Given the description of an element on the screen output the (x, y) to click on. 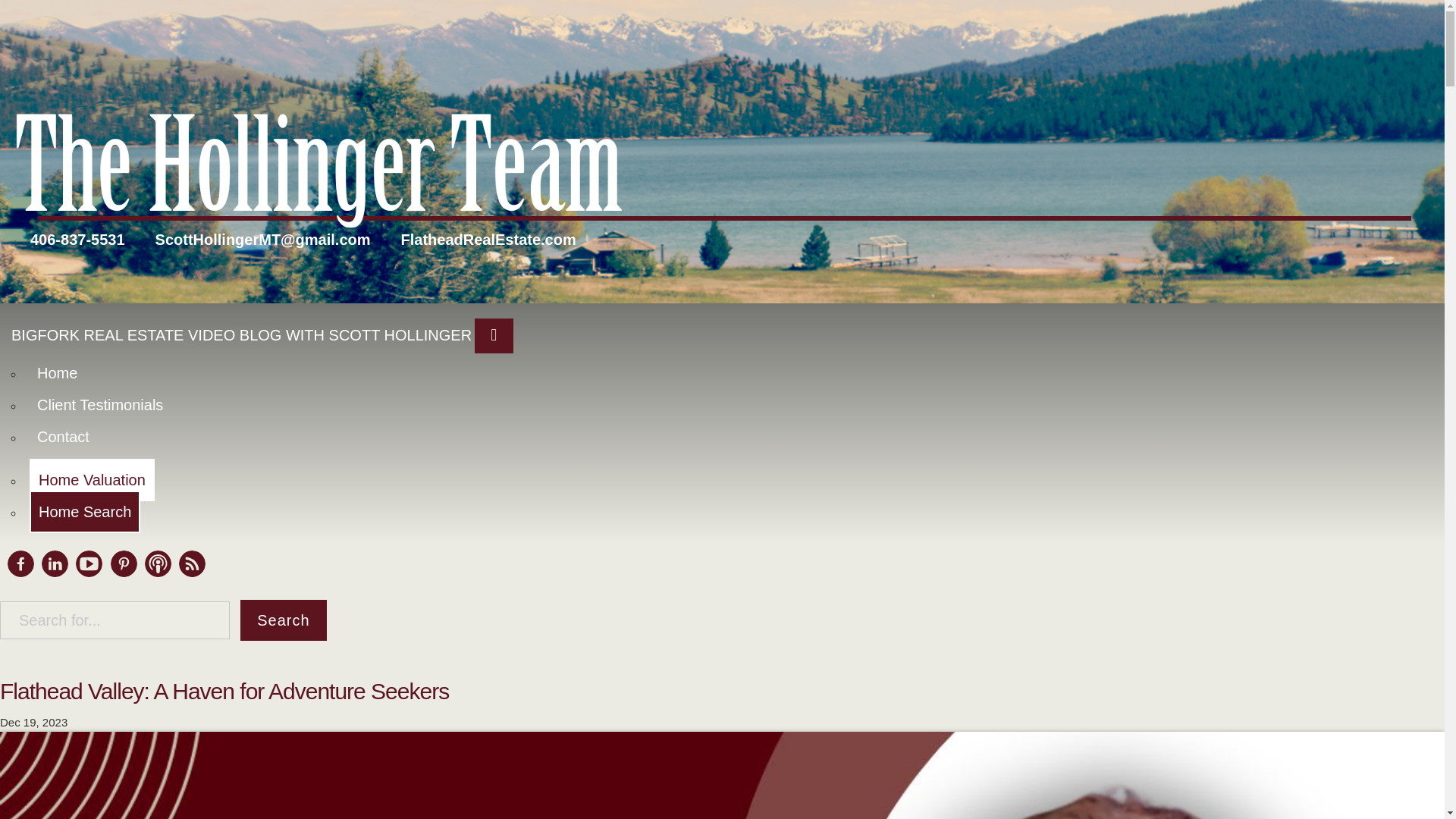
Home (50, 336)
Flathead Valley: A Haven for Adventure Seekers (223, 689)
TOGGLE NAVIGATION (491, 298)
Home Search (79, 481)
YouTube (85, 584)
Podcast (154, 581)
Home Valuation (85, 447)
Contact (56, 403)
Linkedin (55, 563)
Pinterest (119, 583)
Linkedin (50, 585)
rss (189, 580)
FlatheadRealEstate.com (484, 200)
Podcast (157, 563)
Facbook (20, 563)
